Given the description of an element on the screen output the (x, y) to click on. 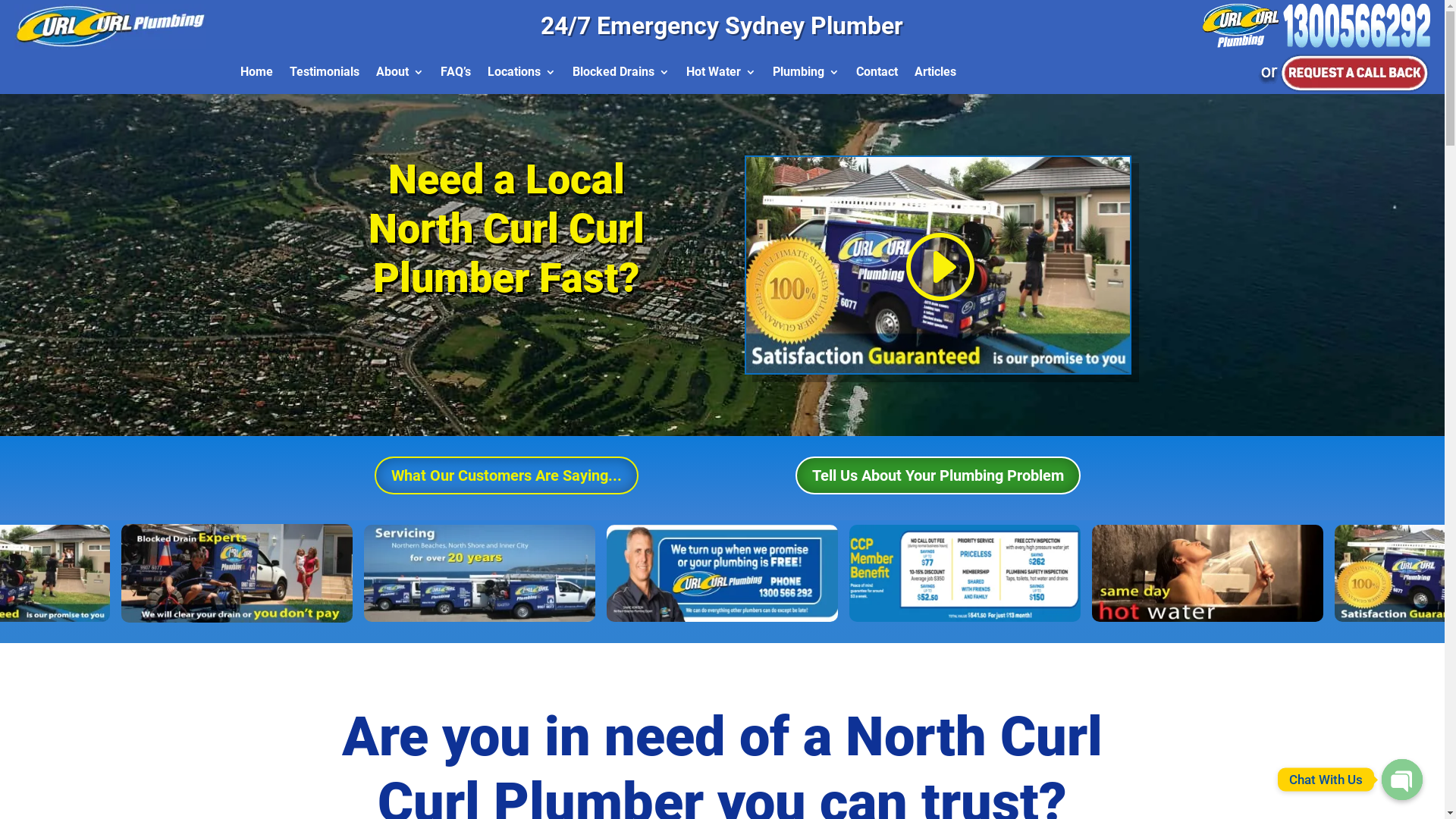
Testimonials Element type: text (324, 74)
Contact Element type: text (876, 74)
Home Element type: text (256, 74)
Tap To Call 1300566292 Element type: hover (1316, 25)
Hot Water Element type: text (721, 74)
Curl Curl Plumbing - Service History Element type: hover (484, 572)
Same Day - Hot Water Element type: hover (1208, 572)
Curl Curl Plumbing  - Club Membership Element type: hover (966, 572)
Tell Us About Your Plumbing Problem Element type: text (937, 475)
Locations Element type: text (521, 74)
Curl Curl Plumbing - Request A Call Back Element type: hover (1343, 73)
Clear Blocked Drains Slider Element type: hover (243, 572)
What Our Customers Are Saying... Element type: text (506, 475)
Articles Element type: text (935, 74)
Curl Curl Plumbing Logo Element type: hover (110, 26)
We turn up when we promise or your plumbing is free! Element type: hover (724, 572)
Blocked Drains Element type: text (620, 74)
About Element type: text (399, 74)
Plumbing Element type: text (805, 74)
